Given the description of an element on the screen output the (x, y) to click on. 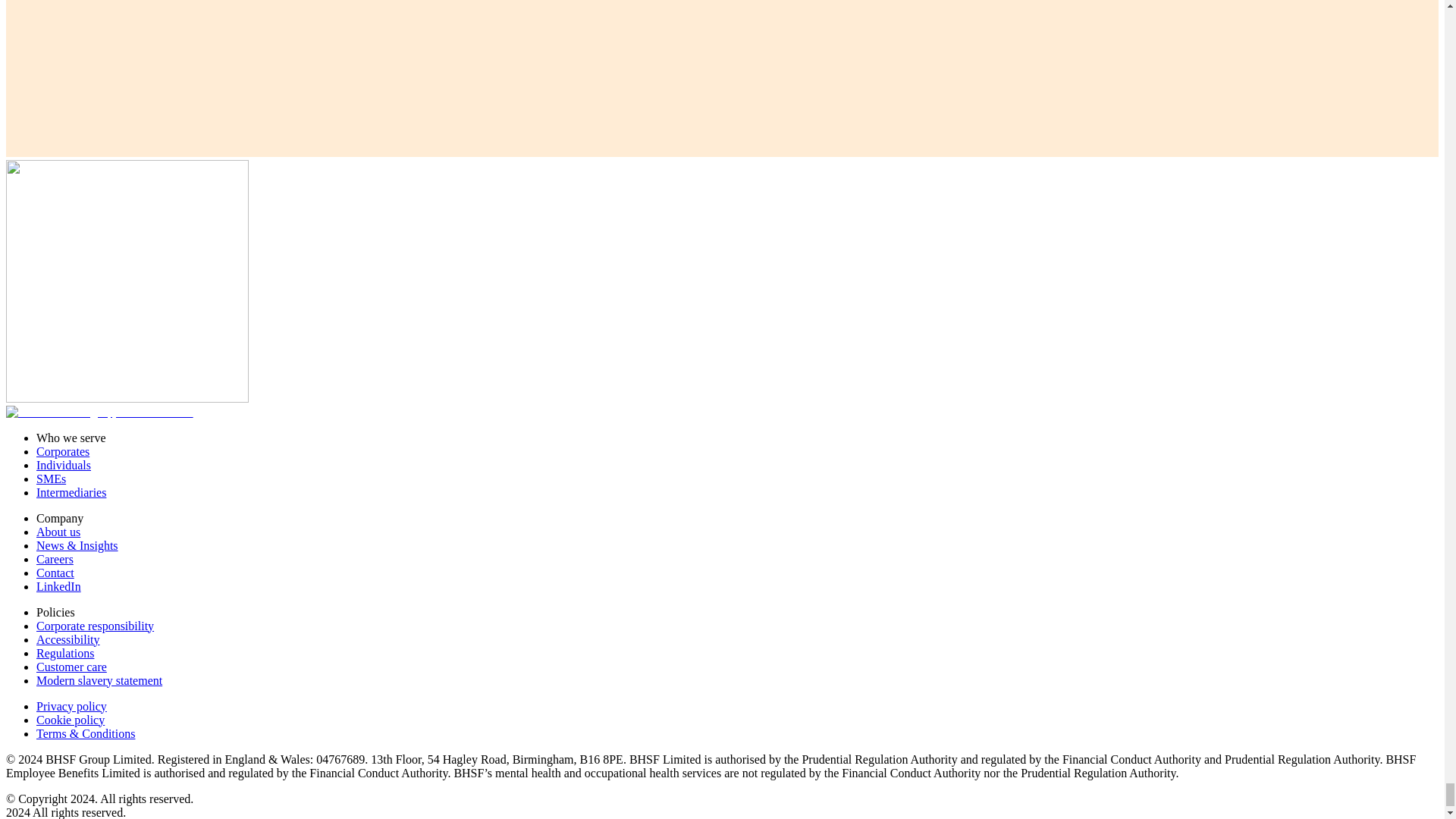
LinkedIn (58, 585)
Careers (55, 558)
Accessibility (68, 639)
Contact (55, 572)
SMEs (50, 478)
About us (58, 531)
Individuals (63, 464)
Corporate responsibility (95, 625)
Intermediaries (71, 492)
Corporates (62, 451)
